Given the description of an element on the screen output the (x, y) to click on. 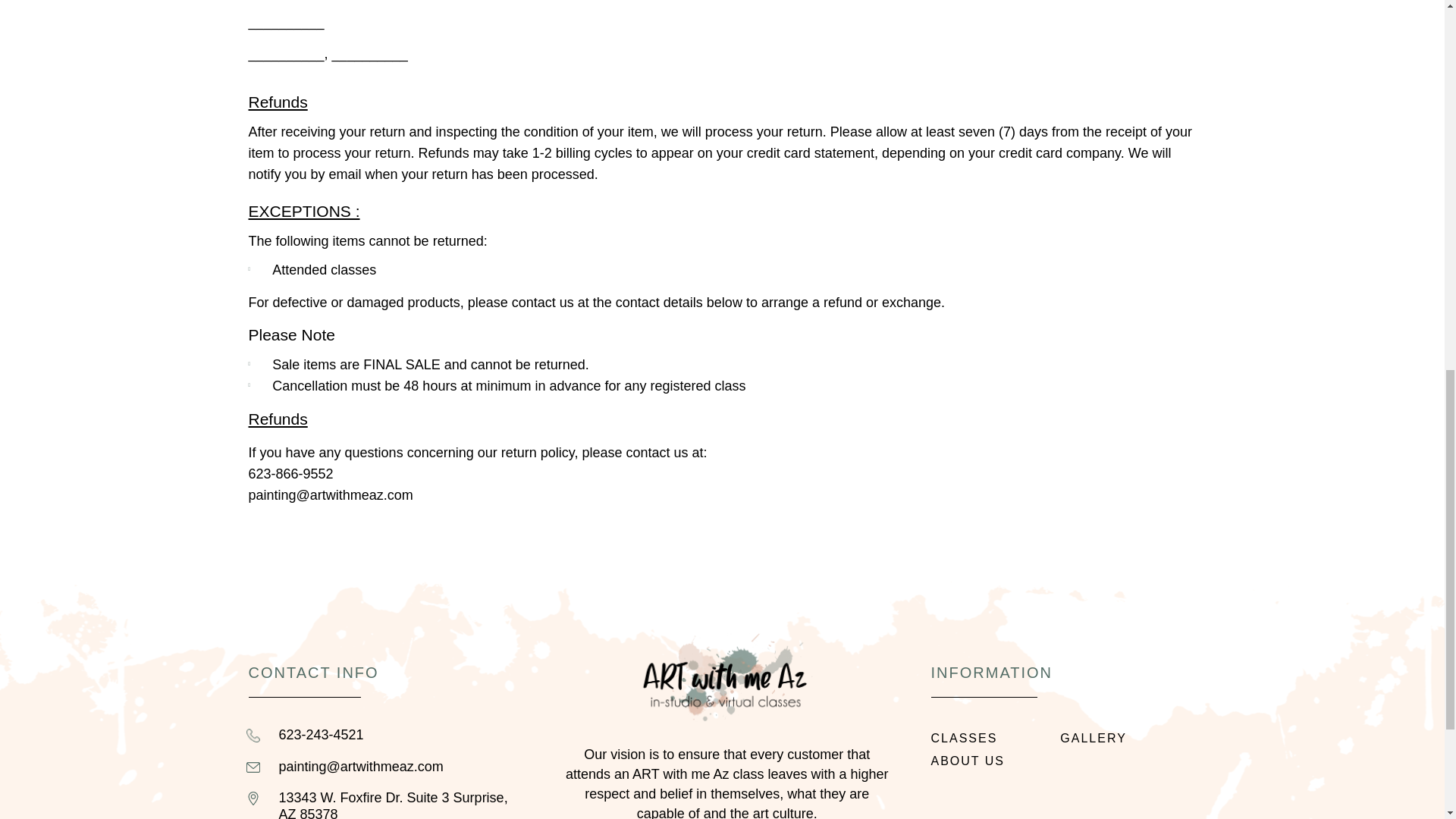
623-866-9552 (290, 473)
ABOUT US (996, 761)
CLASSES (996, 738)
13343 W. Foxfire Dr. Suite 3 Surprise, AZ 85378 (401, 804)
623-243-4521 (401, 735)
GALLERY (1124, 738)
